Given the description of an element on the screen output the (x, y) to click on. 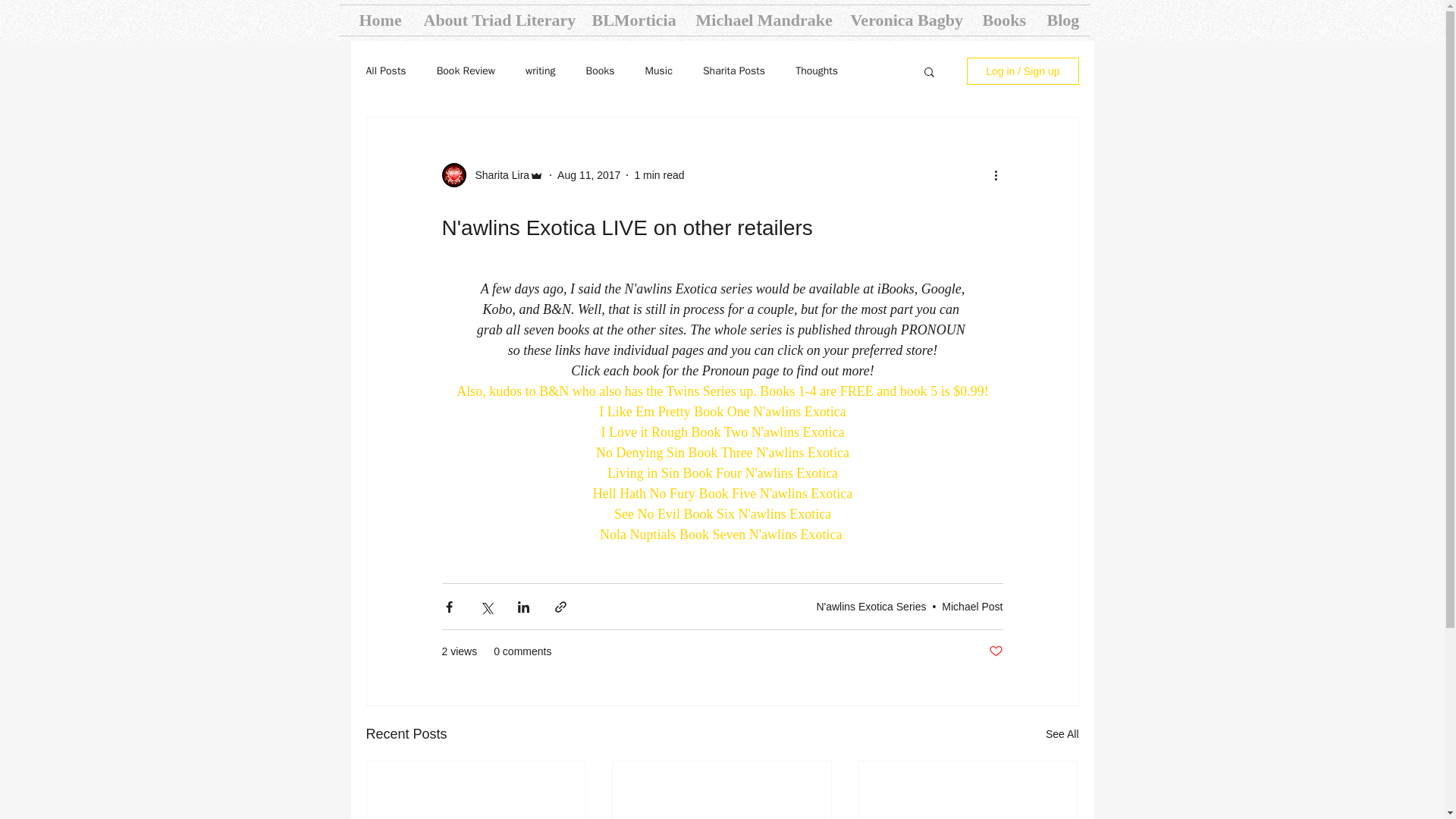
About Triad Literary (496, 20)
BLMorticia (632, 20)
Veronica Bagby (904, 20)
All Posts (385, 70)
1 min read (658, 174)
Aug 11, 2017 (588, 174)
Sharita Lira (497, 174)
Blog (1062, 20)
writing (539, 70)
Home (379, 20)
